Given the description of an element on the screen output the (x, y) to click on. 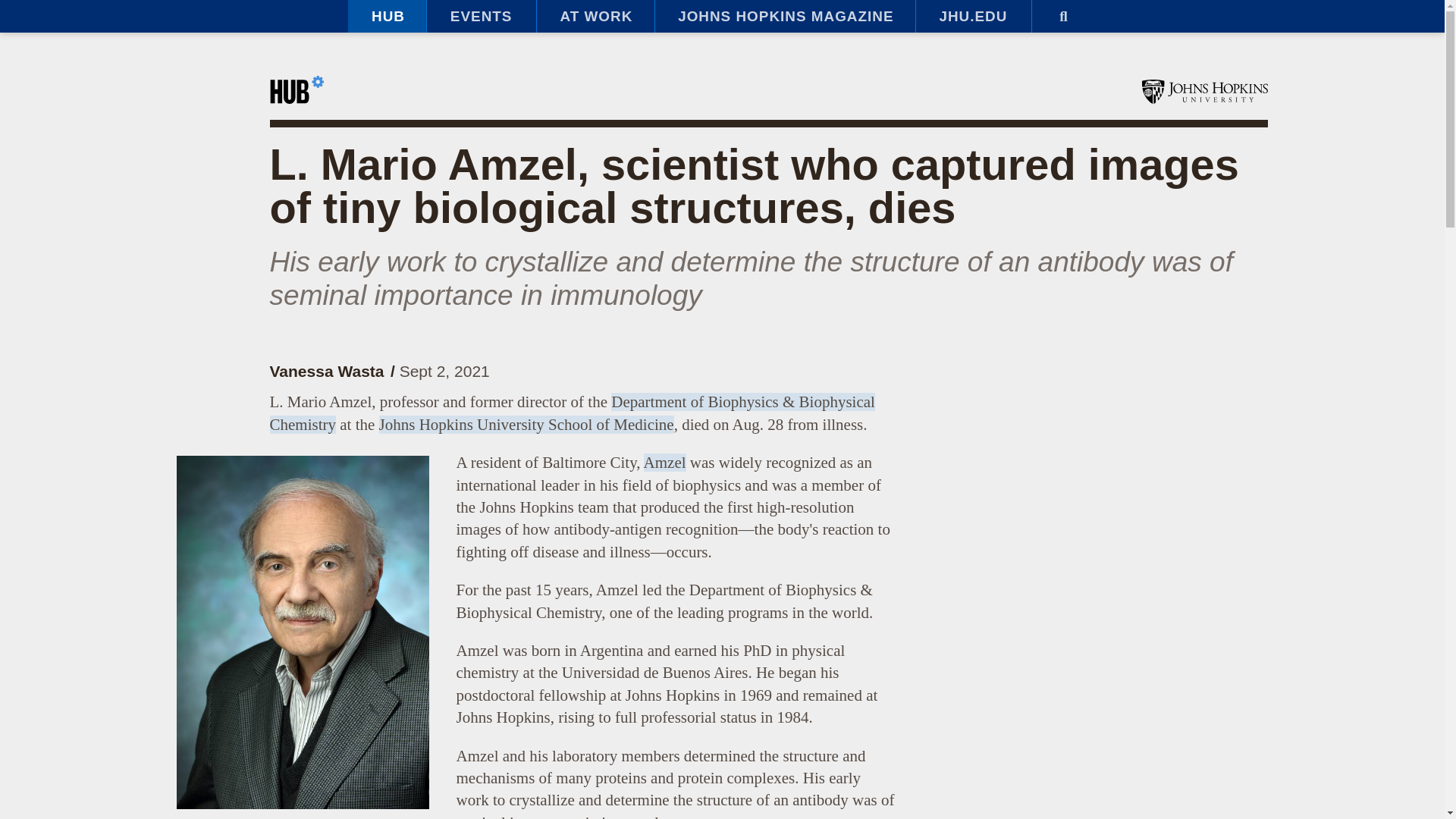
AT WORK (594, 16)
Johns Hopkins University (1204, 91)
JHU.EDU (972, 16)
HUB (386, 16)
EVENTS (480, 16)
JOHNS HOPKINS MAGAZINE (784, 16)
